Given the description of an element on the screen output the (x, y) to click on. 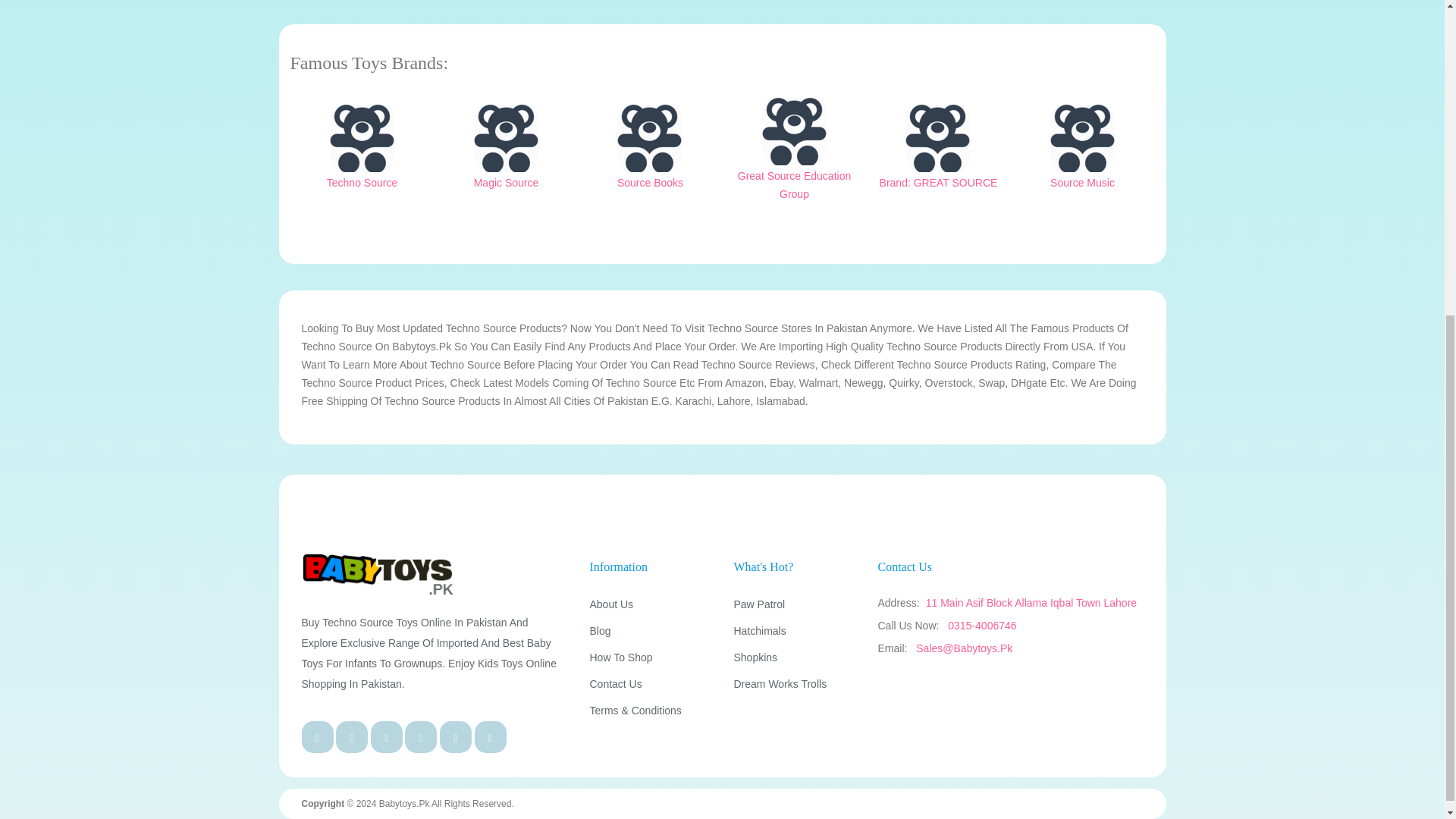
Great Source Education Group (794, 131)
Techno Source (361, 137)
Source Music (1082, 137)
Great Source Education Group (794, 155)
Source Books (649, 137)
Brand: GREAT SOURCE (938, 137)
Brand: GREAT SOURCE (938, 153)
Magic Source (505, 137)
